Given the description of an element on the screen output the (x, y) to click on. 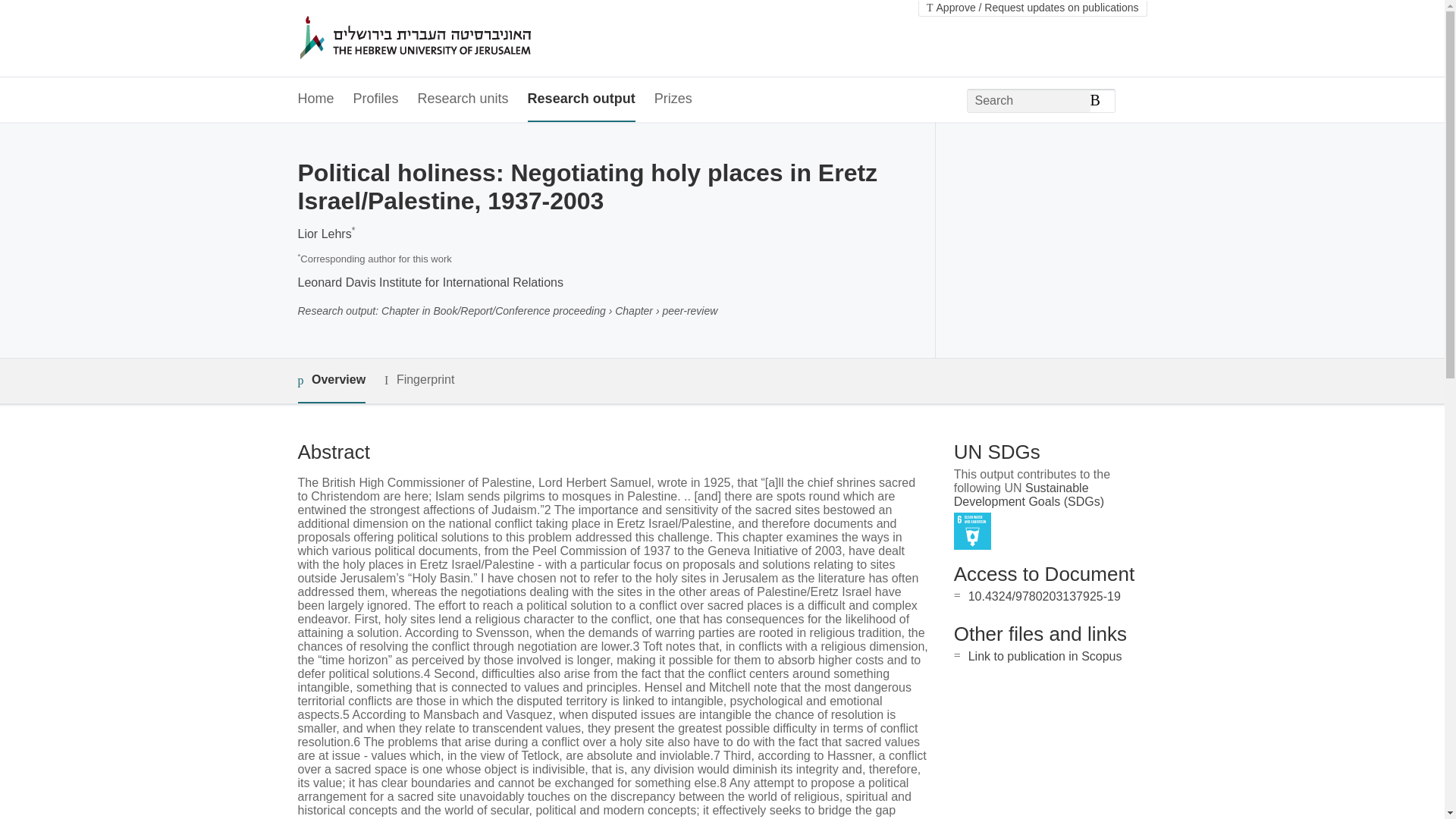
Link to publication in Scopus (1045, 656)
Fingerprint (419, 380)
The Hebrew University of Jerusalem Home (447, 38)
Profiles (375, 99)
Research output (580, 99)
SDG 6 - Clean Water and Sanitation (972, 530)
Lior Lehrs (323, 233)
Leonard Davis Institute for International Relations (429, 282)
Research units (462, 99)
